Given the description of an element on the screen output the (x, y) to click on. 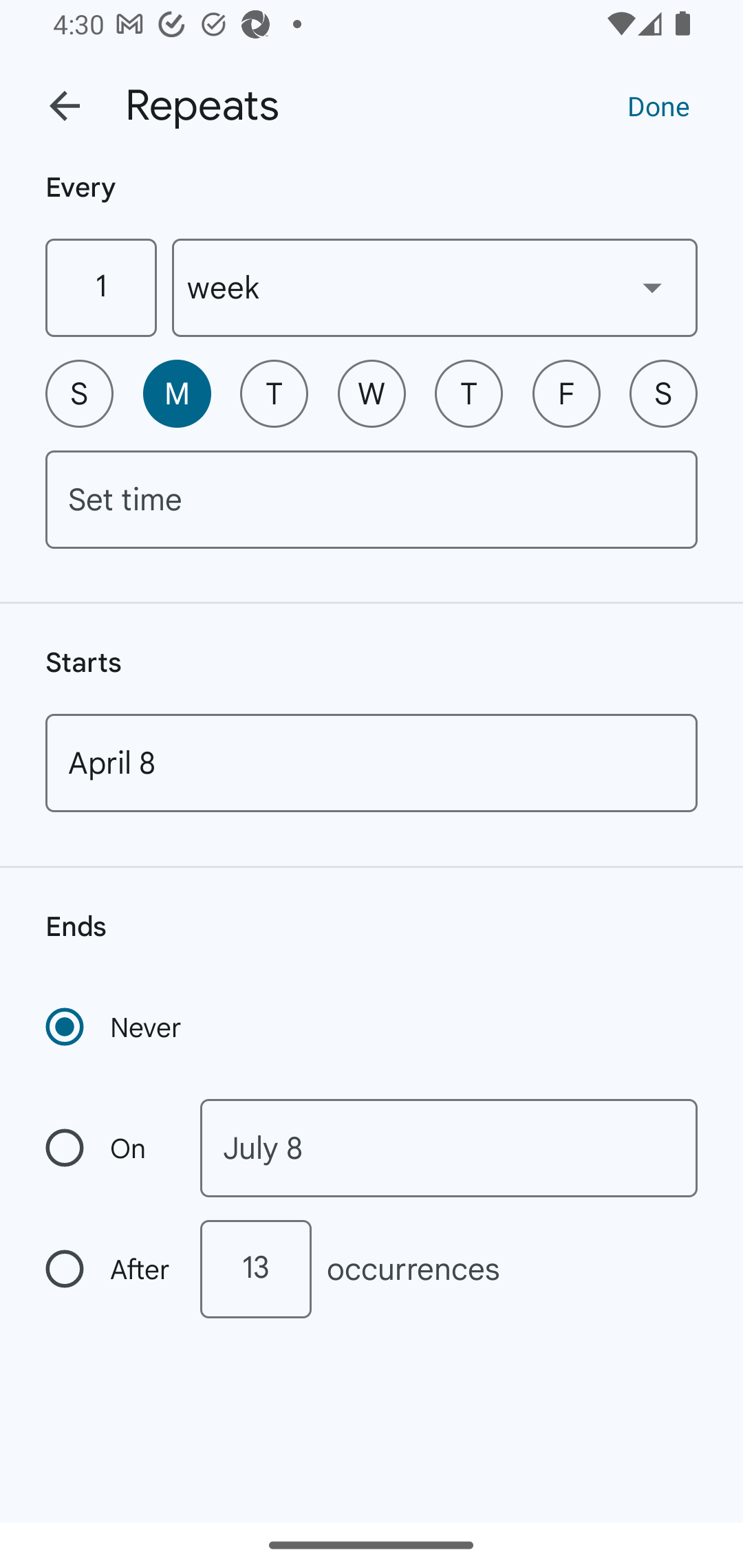
Back (64, 105)
Done (658, 105)
1 (100, 287)
week (434, 287)
Show dropdown menu (652, 286)
S Sunday (79, 393)
M Monday, selected (177, 393)
T Tuesday (273, 393)
W Wednesday (371, 393)
T Thursday (468, 393)
F Friday (566, 393)
S Saturday (663, 393)
Set time (371, 499)
April 8 (371, 762)
Never Recurrence never ends (115, 1026)
July 8 (448, 1148)
On Recurrence ends on a specific date (109, 1148)
13 (255, 1268)
